Given the description of an element on the screen output the (x, y) to click on. 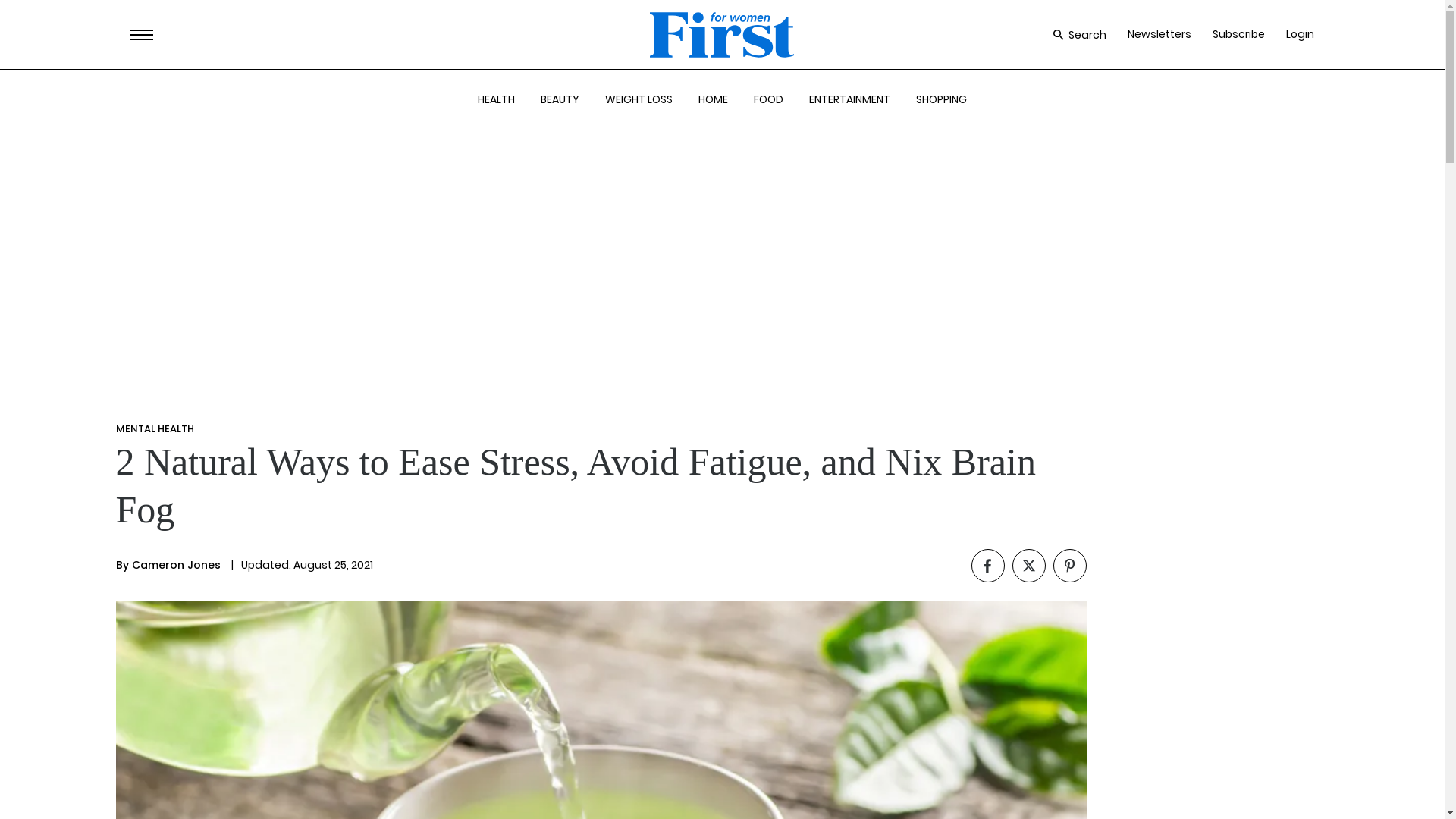
MENU (141, 34)
Subscribe (1238, 33)
Click to share on Pinterest (1069, 565)
Click to share on Facebook (987, 565)
Click to share on Twitter (1028, 565)
Newsletters (1158, 33)
